Given the description of an element on the screen output the (x, y) to click on. 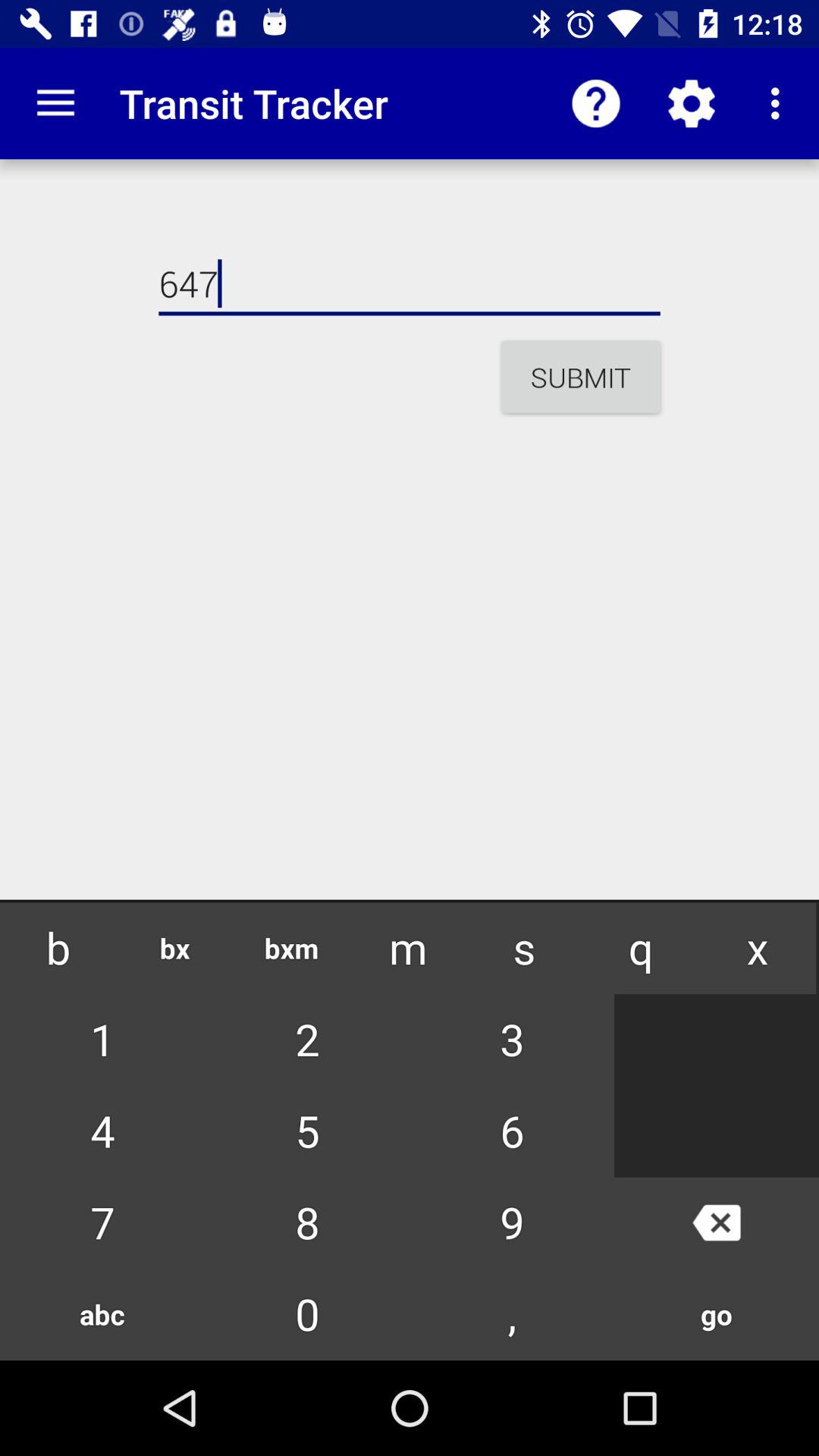
type numbers (409, 1295)
